Given the description of an element on the screen output the (x, y) to click on. 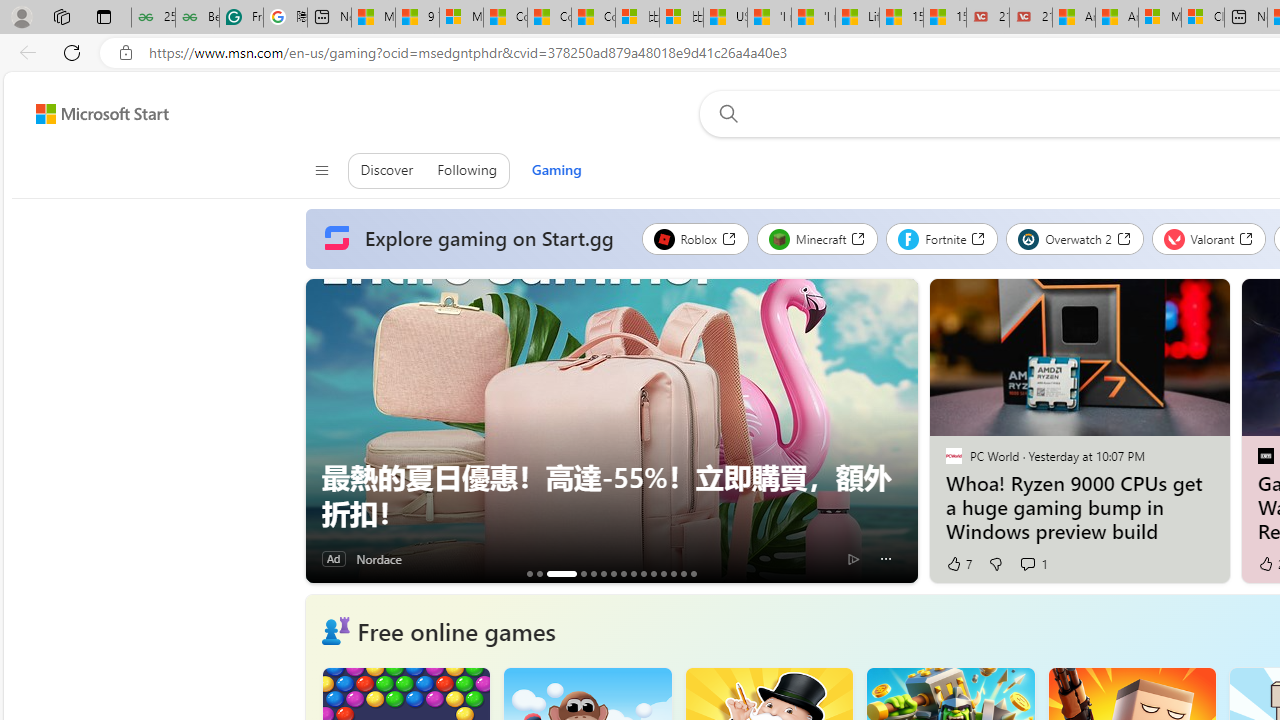
25 Basic Linux Commands For Beginners - GeeksforGeeks (153, 17)
Valorant (1208, 238)
How Shein Is Revolutionizing The Fashion Industry? (593, 573)
21 Things To Know Before Playing Star Wars Outlaws (693, 573)
7 Like (958, 564)
8 Best Puzzle Games If You're Tired Of Wordle (539, 573)
Ad (333, 558)
Class: control icon-only (320, 170)
Nintendo Consoles With The Most Zelda Games (583, 573)
AutomationID: tab_nativead-infopane-11 (653, 573)
AutomationID: tab_nativead-infopane-14 (683, 573)
